Given the description of an element on the screen output the (x, y) to click on. 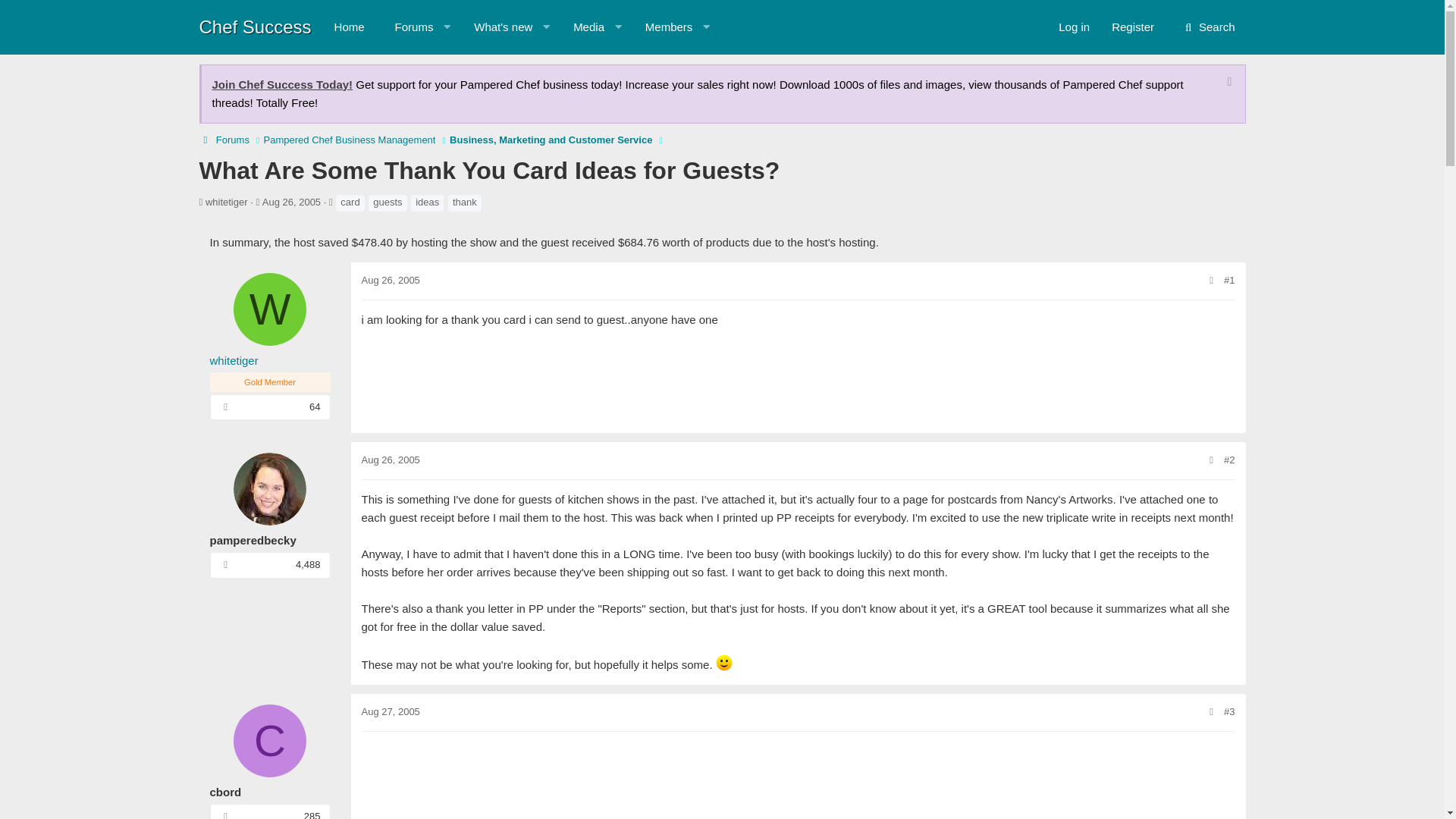
Aug 27, 2005 at 5:19 AM (390, 711)
Aug 26, 2005 at 10:32 PM (390, 460)
Aug 26, 2005 at 10:17 PM (390, 279)
Advertisement (797, 780)
Search (1208, 26)
Log in (1074, 26)
What's new (496, 26)
Messages (225, 406)
Register (518, 26)
Members (1132, 26)
Chef Success (662, 26)
Home (254, 26)
Join Chef Success Today! (349, 26)
Media (282, 83)
